Given the description of an element on the screen output the (x, y) to click on. 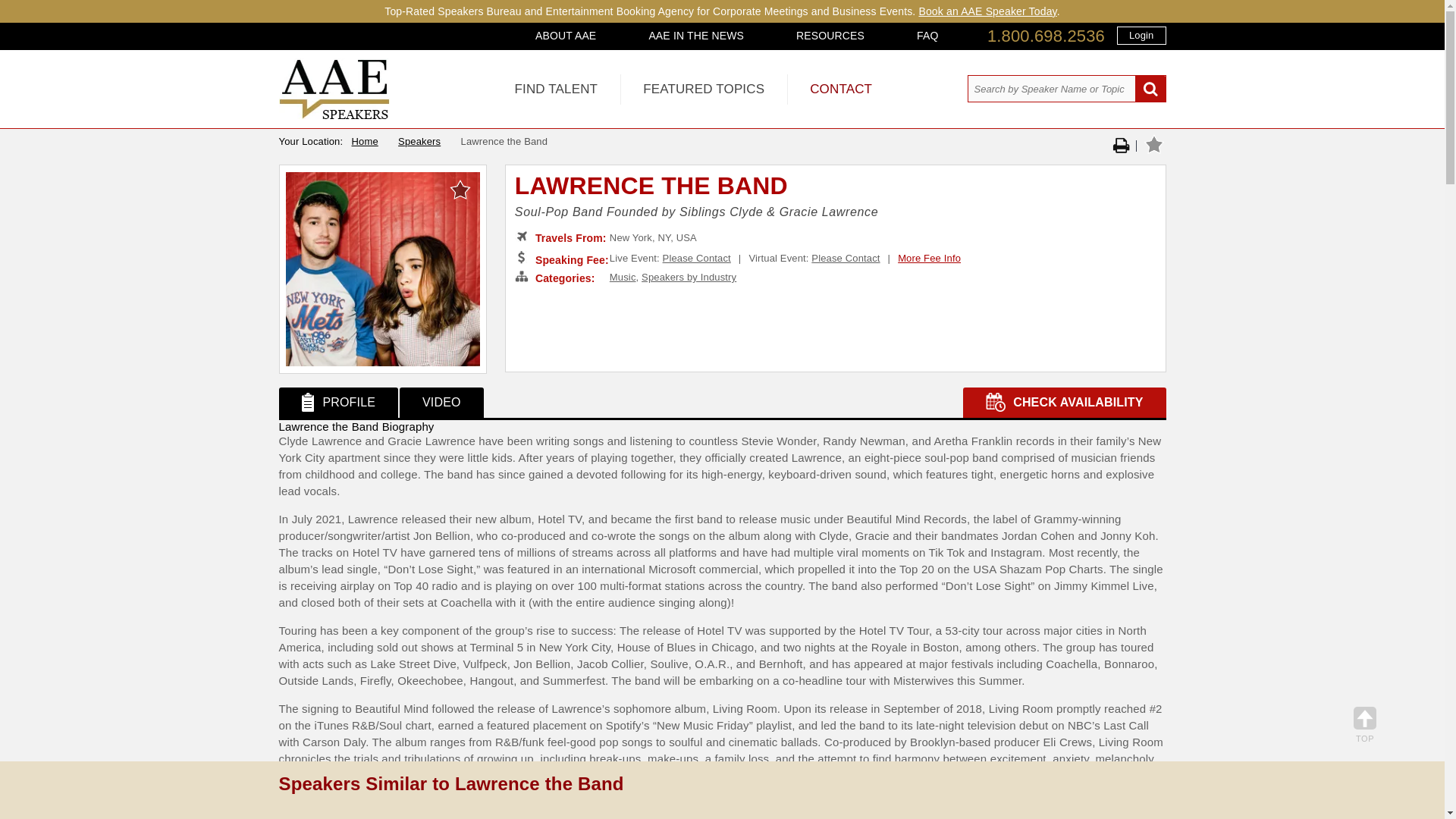
All American Speakers Bureau and Celebrity Booking Agency (334, 115)
RESOURCES (829, 34)
ABOUT AAE (565, 34)
FAQ (927, 34)
1.800.698.2536 (1046, 35)
Book an AAE Speaker Today (987, 10)
AAE IN THE NEWS (695, 34)
Login (1141, 35)
Search (1150, 89)
